Given the description of an element on the screen output the (x, y) to click on. 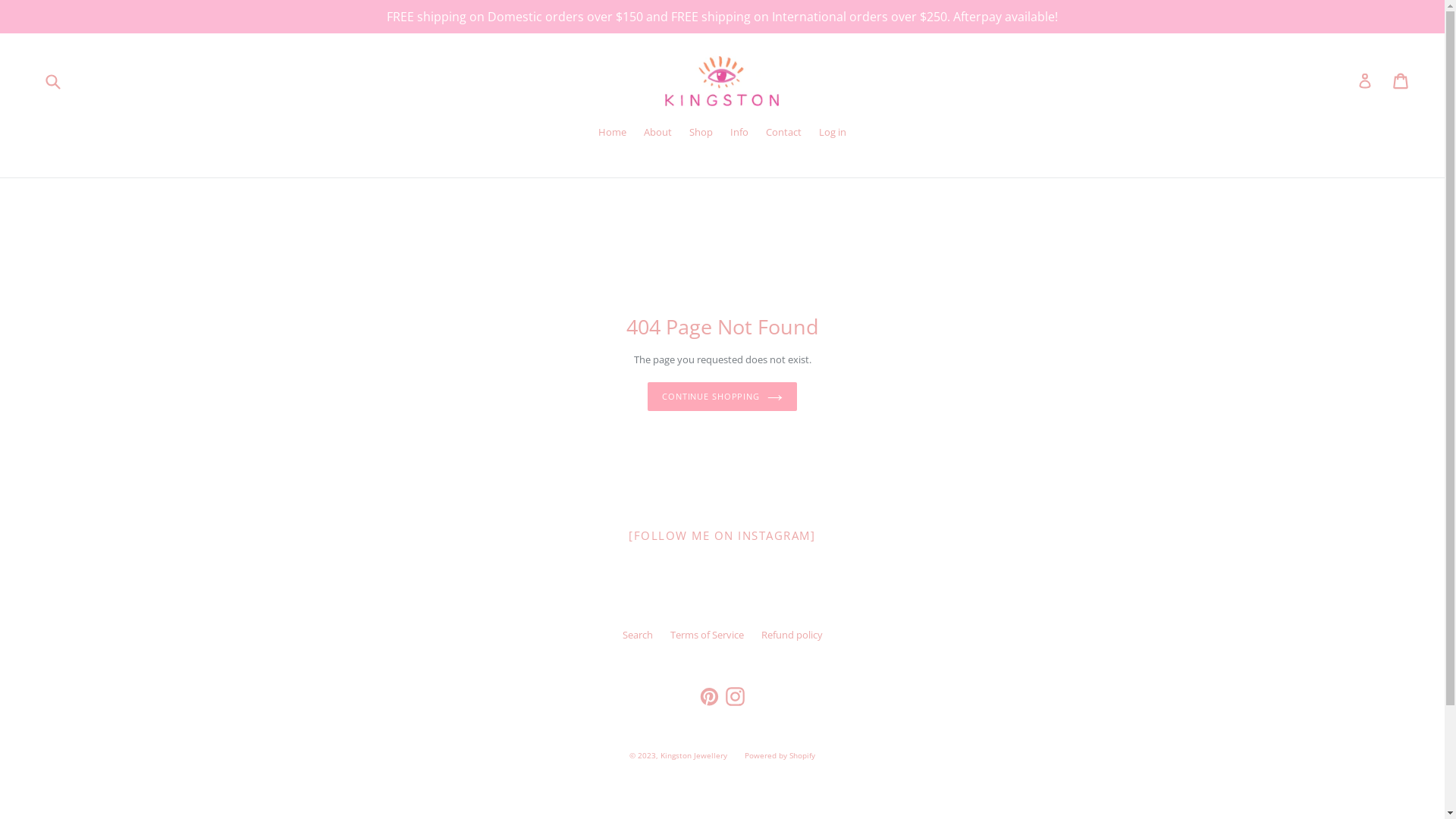
Log in Element type: text (1364, 81)
Search Element type: text (636, 635)
Powered by Shopify Element type: text (779, 754)
Pinterest Element type: text (709, 696)
CONTINUE SHOPPING Element type: text (722, 396)
Info Element type: text (739, 133)
Submit Element type: text (51, 80)
Instagram Element type: text (734, 696)
Cart
Cart Element type: text (1401, 80)
Kingston Jewellery Element type: text (693, 754)
About Element type: text (657, 133)
Log in Element type: text (832, 133)
Home Element type: text (611, 133)
Contact Element type: text (783, 133)
Terms of Service Element type: text (706, 635)
Shop Element type: text (700, 133)
Refund policy Element type: text (791, 635)
